Given the description of an element on the screen output the (x, y) to click on. 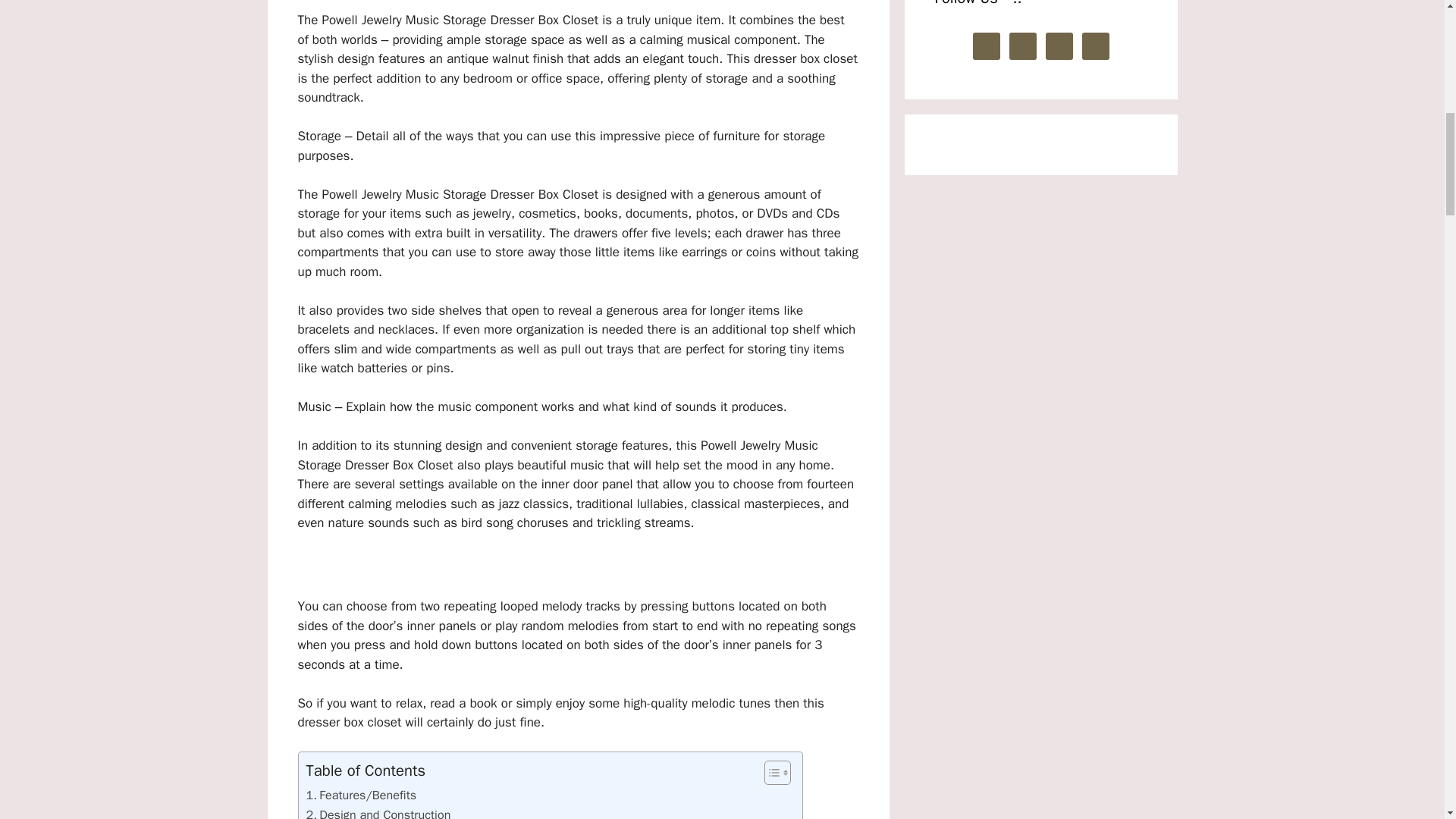
Design and Construction (378, 812)
